Given the description of an element on the screen output the (x, y) to click on. 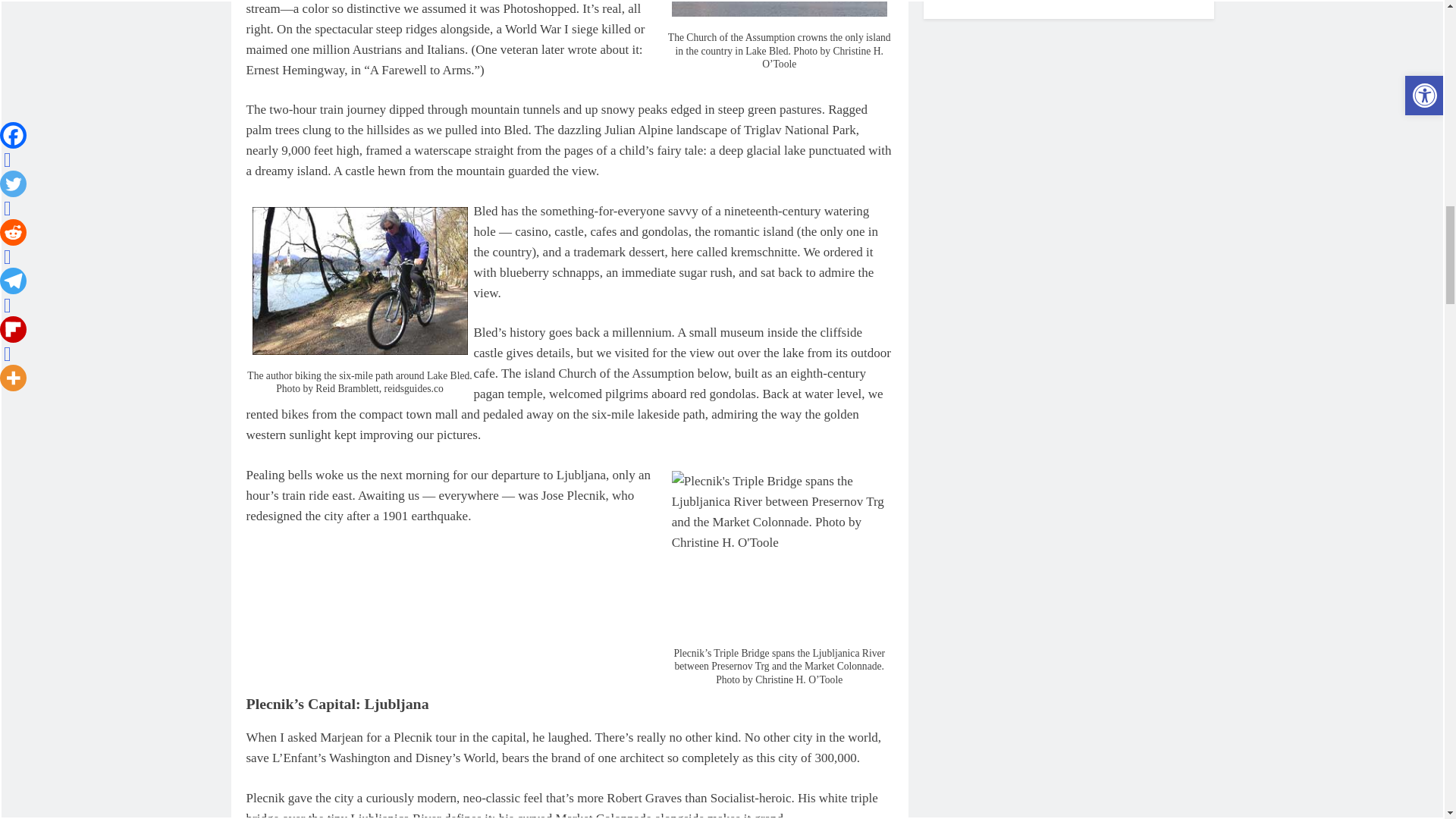
Slovenia at Fifteen: Hip, But Unspoiled 4 (779, 551)
Slovenia at Fifteen: Hip, But Unspoiled 2 (779, 11)
Slovenia at Fifteen: Hip, But Unspoiled 3 (359, 280)
